Given the description of an element on the screen output the (x, y) to click on. 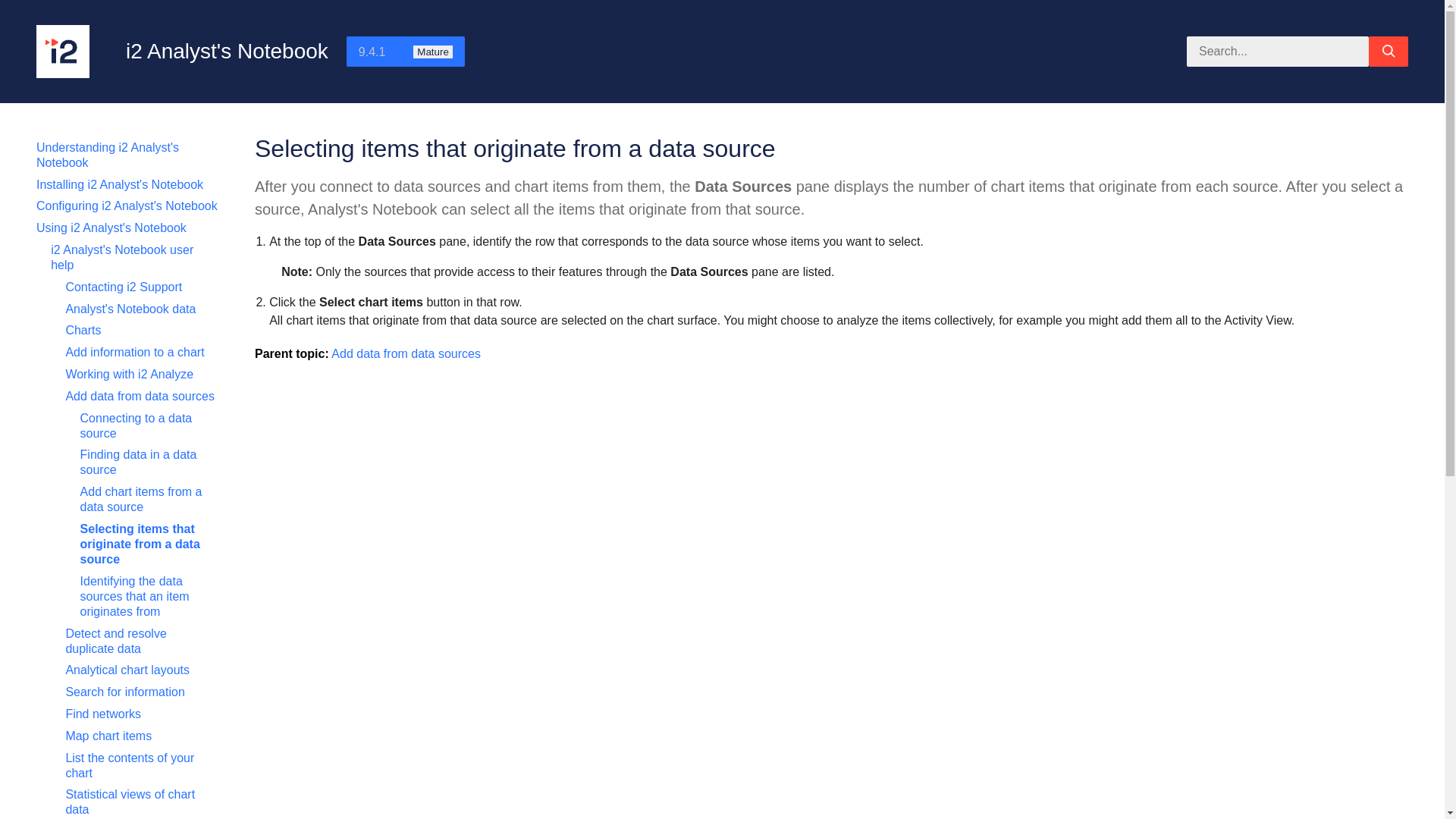
Selecting items that originate from a data source (140, 543)
Configuring i2 Analyst's Notebook (126, 205)
Statistical views of chart data (130, 801)
Search for information (124, 691)
Contacting i2 Support (123, 286)
Understanding i2 Analyst's Notebook (107, 154)
Charts (82, 329)
Connecting to a data source (136, 425)
Map chart items (108, 735)
List the contents of your chart (129, 765)
